Given the description of an element on the screen output the (x, y) to click on. 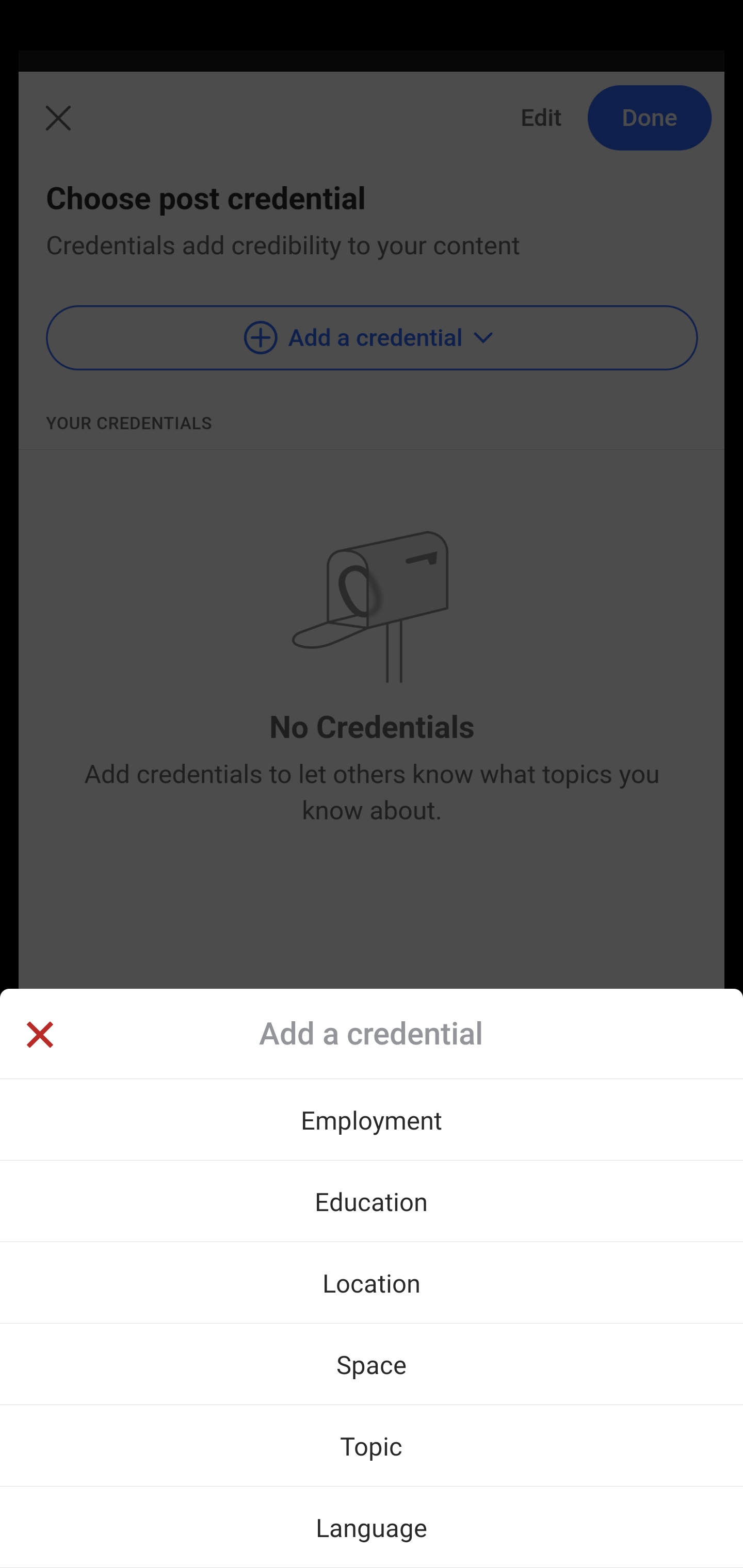
 Add a credential (371, 1033)
 (39, 1036)
Employment (371, 1119)
Education (371, 1200)
Location (371, 1282)
Space (371, 1363)
Topic (371, 1445)
Language (371, 1527)
